Given the description of an element on the screen output the (x, y) to click on. 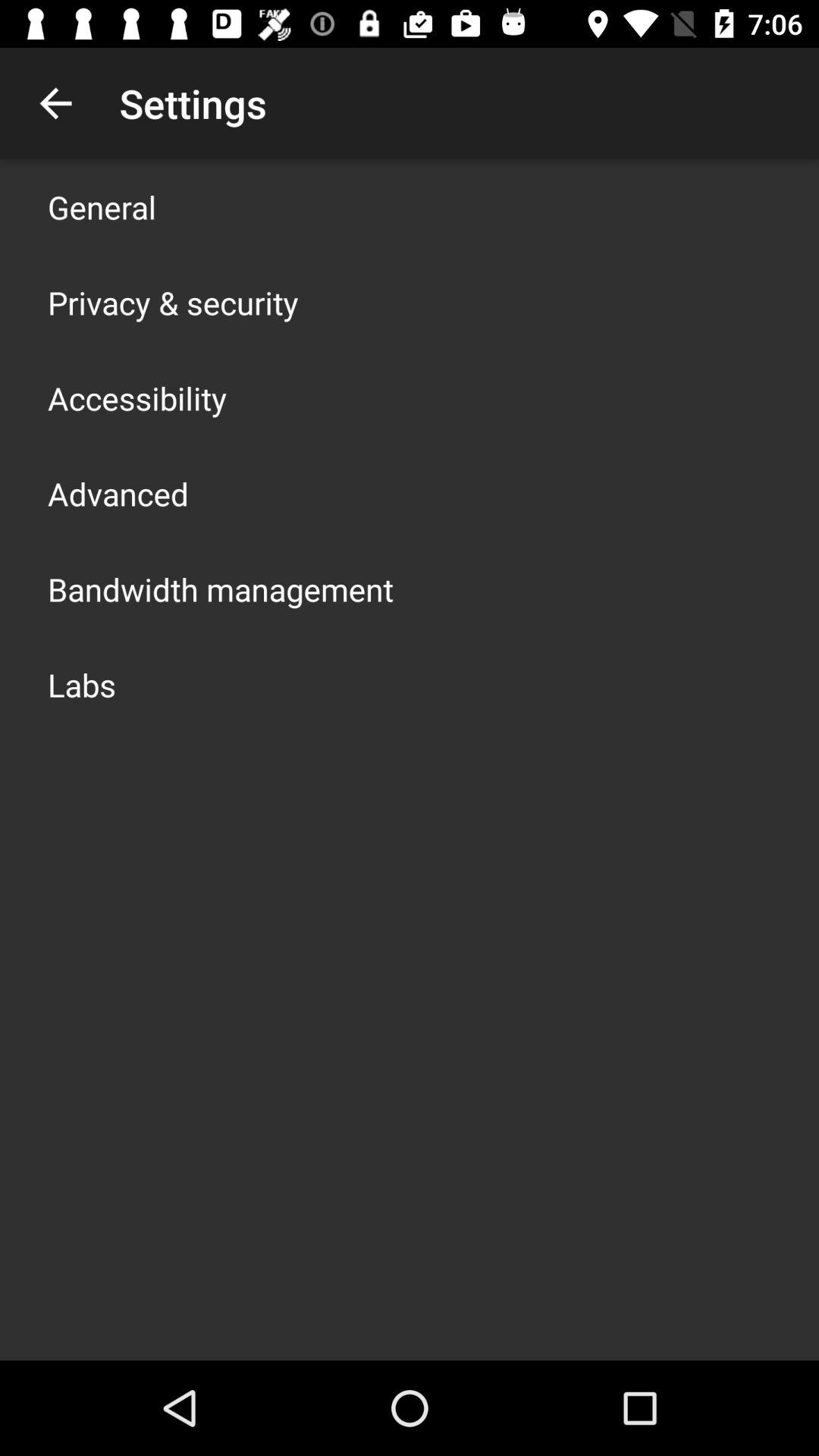
swipe to general item (101, 206)
